Given the description of an element on the screen output the (x, y) to click on. 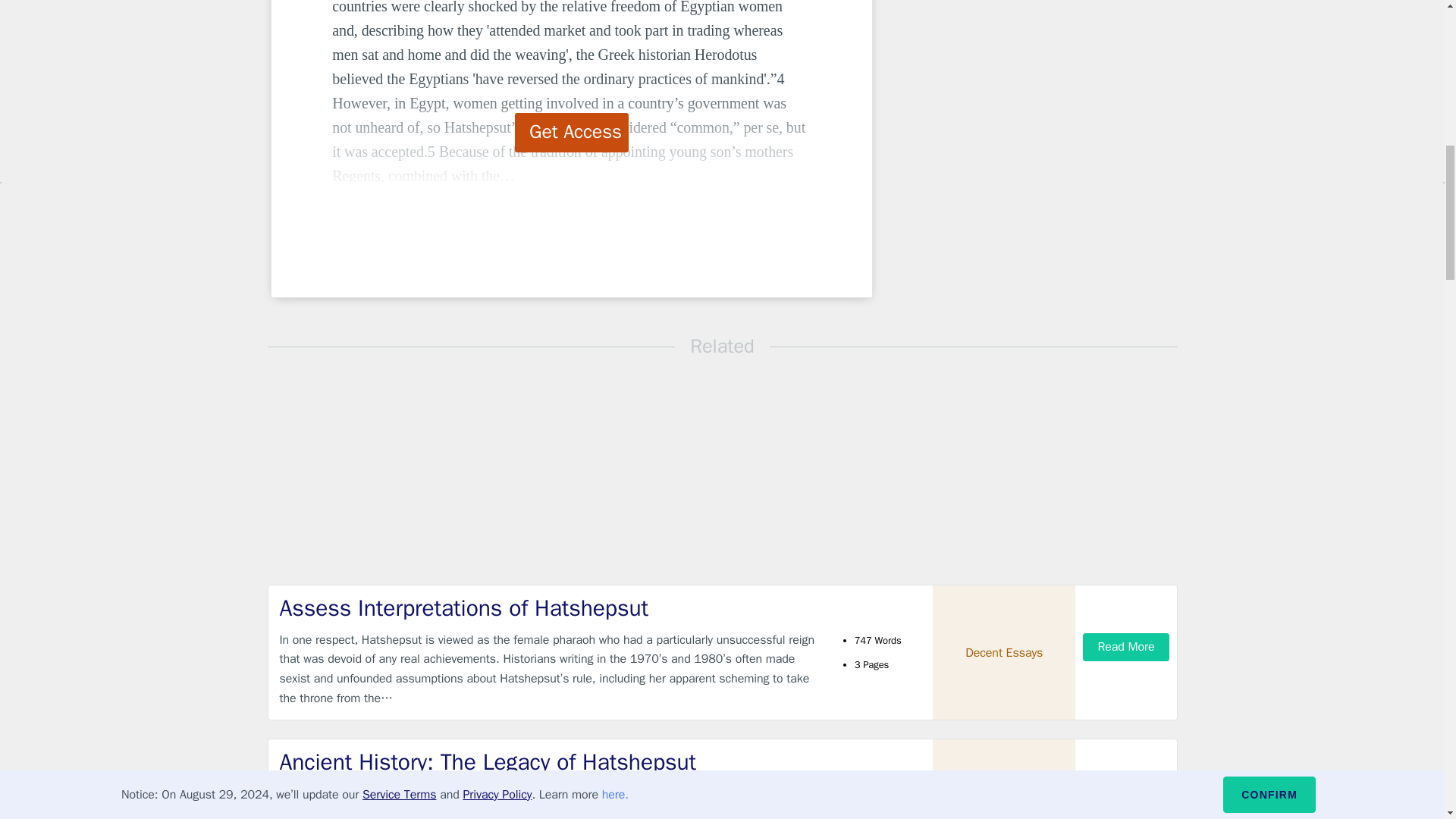
Get Access (571, 132)
Read More (1126, 646)
Assess Interpretations of Hatshepsut (548, 608)
Ancient History: The Legacy of Hatshepsut (548, 762)
